Given the description of an element on the screen output the (x, y) to click on. 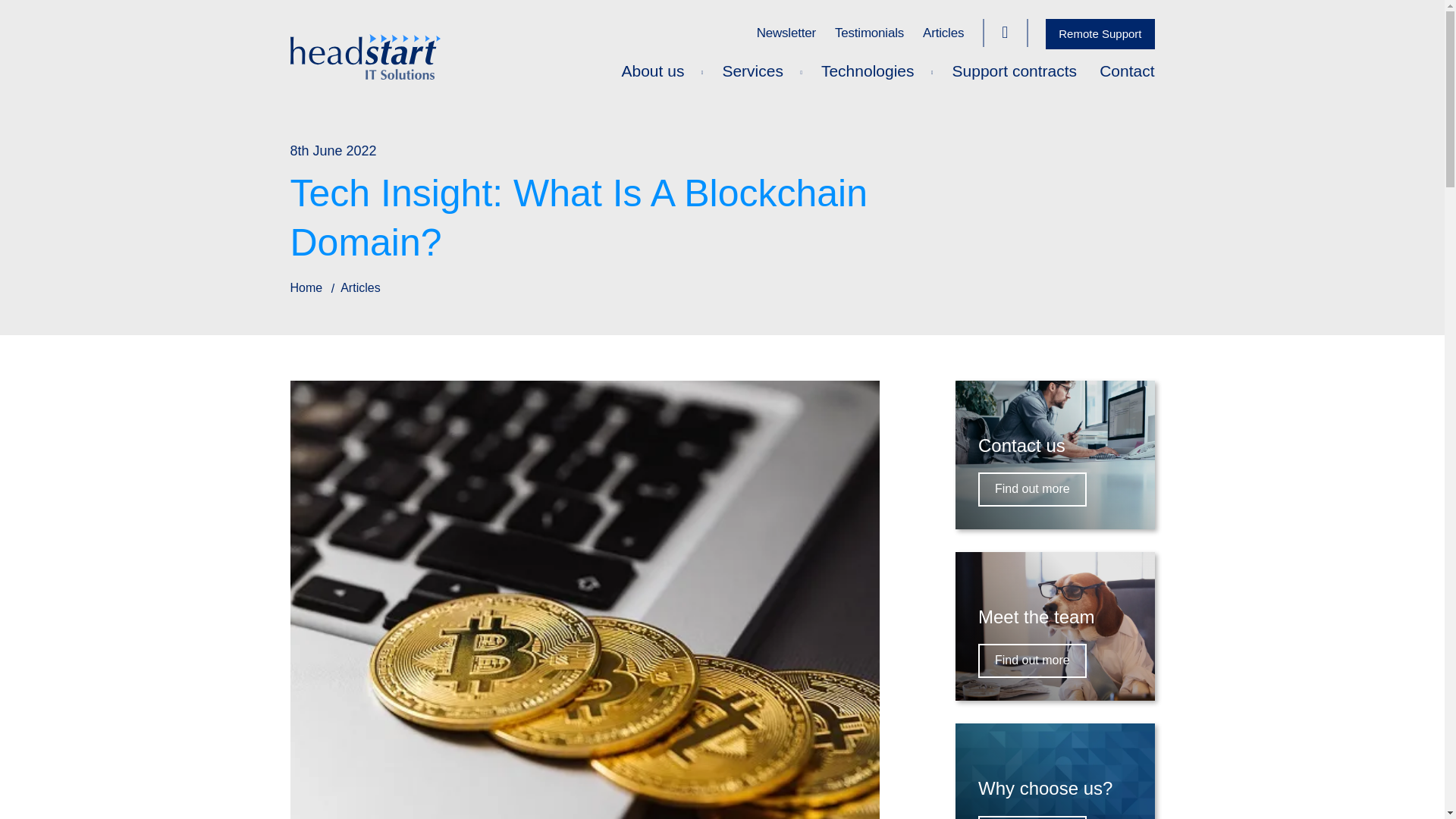
Go to Articles. (360, 287)
Remote Support (1099, 33)
Go to Headstart IT Solutions. (305, 287)
Headstart IT Solutions (721, 56)
